Given the description of an element on the screen output the (x, y) to click on. 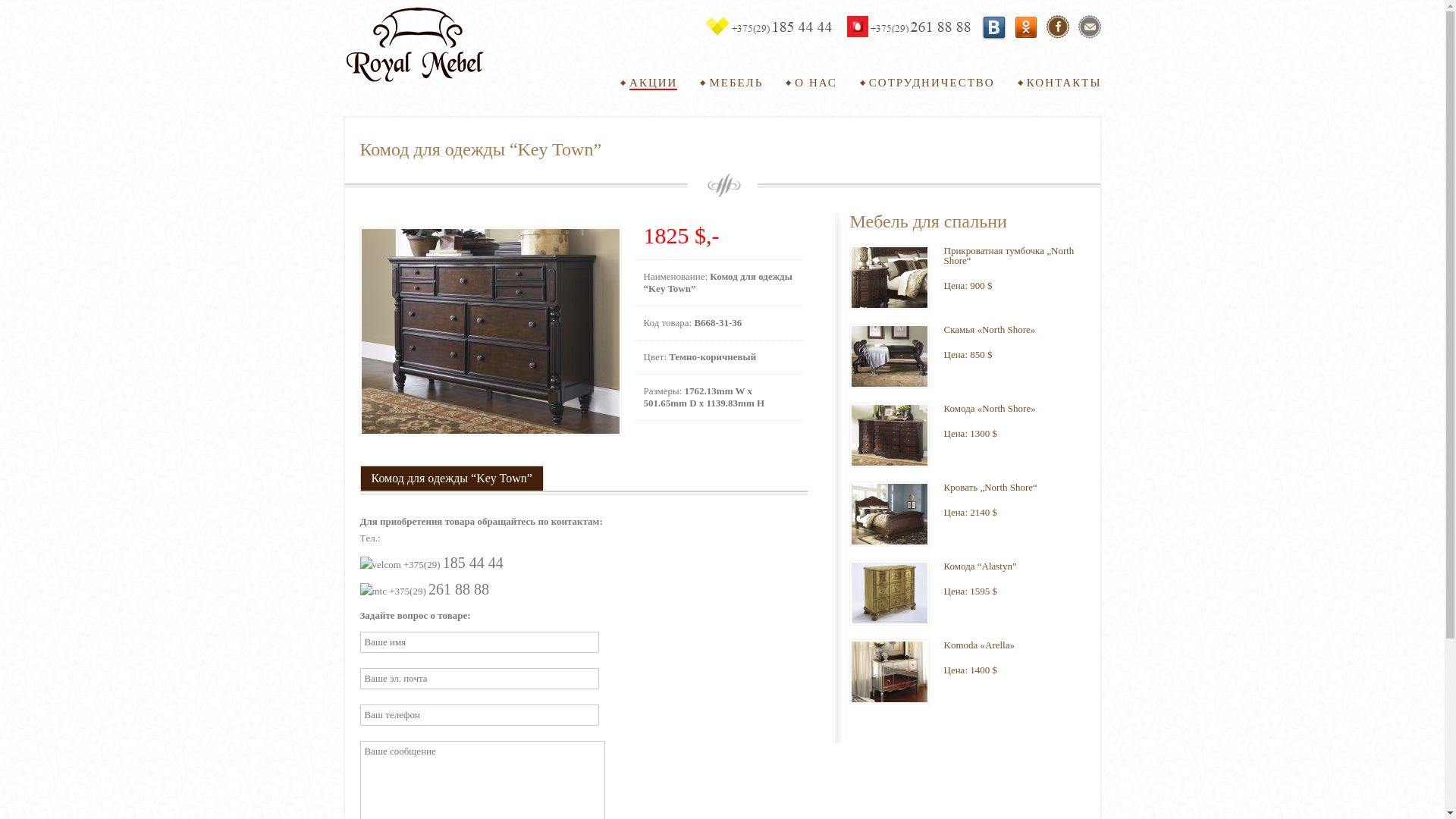
Vkontakte Element type: text (993, 27)
Mail Element type: text (1088, 27)
Odnoklassniki Element type: text (1025, 27)
facebook Element type: text (1056, 27)
Royal Mebel Element type: text (413, 44)
+375(29) 261 88 88 Element type: text (907, 27)
+375(29) 185 44 44 Element type: text (768, 27)
